Given the description of an element on the screen output the (x, y) to click on. 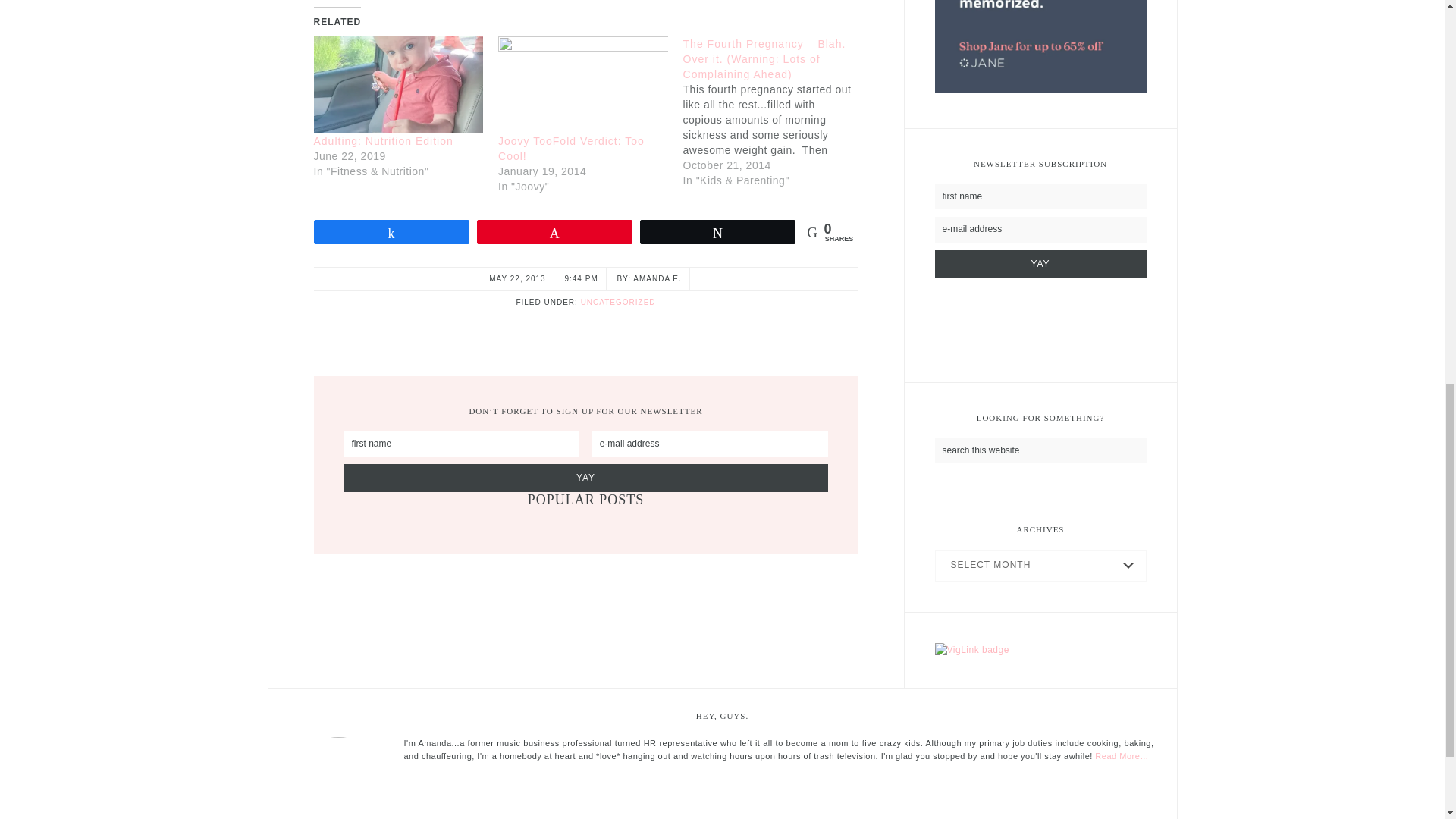
Adulting: Nutrition Edition (383, 141)
Joovy TooFold Verdict: Too Cool! (582, 84)
YAY (1039, 264)
Adulting: Nutrition Edition (383, 141)
Joovy TooFold Verdict: Too Cool! (571, 148)
YAY (1039, 264)
YAY (585, 478)
Joovy TooFold Verdict: Too Cool! (571, 148)
YAY (585, 478)
Links monetized by VigLink (971, 650)
UNCATEGORIZED (618, 302)
Adulting: Nutrition Edition (398, 84)
